Given the description of an element on the screen output the (x, y) to click on. 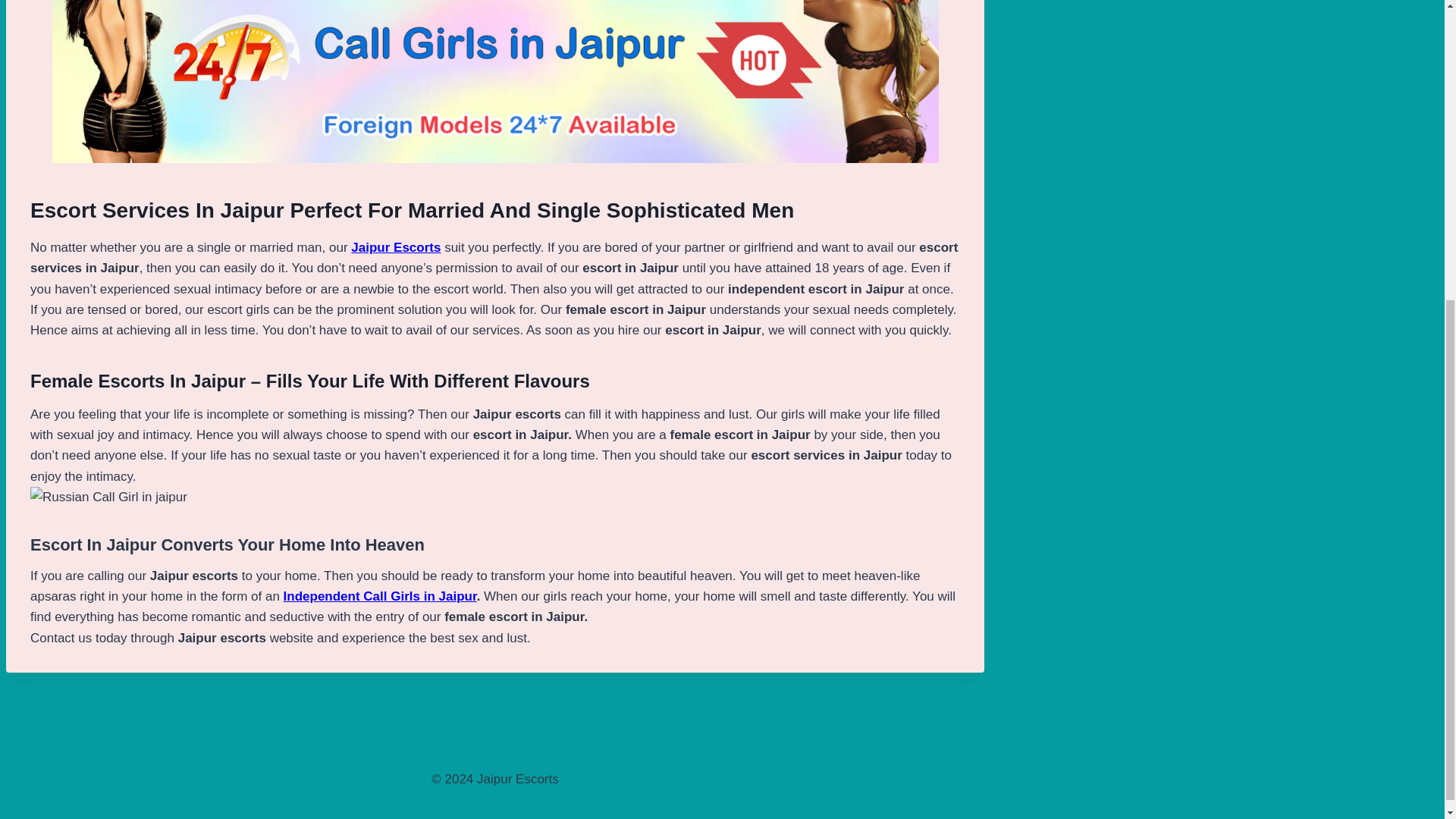
Jaipur Escorts (395, 247)
Independent Call Girls in Jaipur (380, 595)
